Given the description of an element on the screen output the (x, y) to click on. 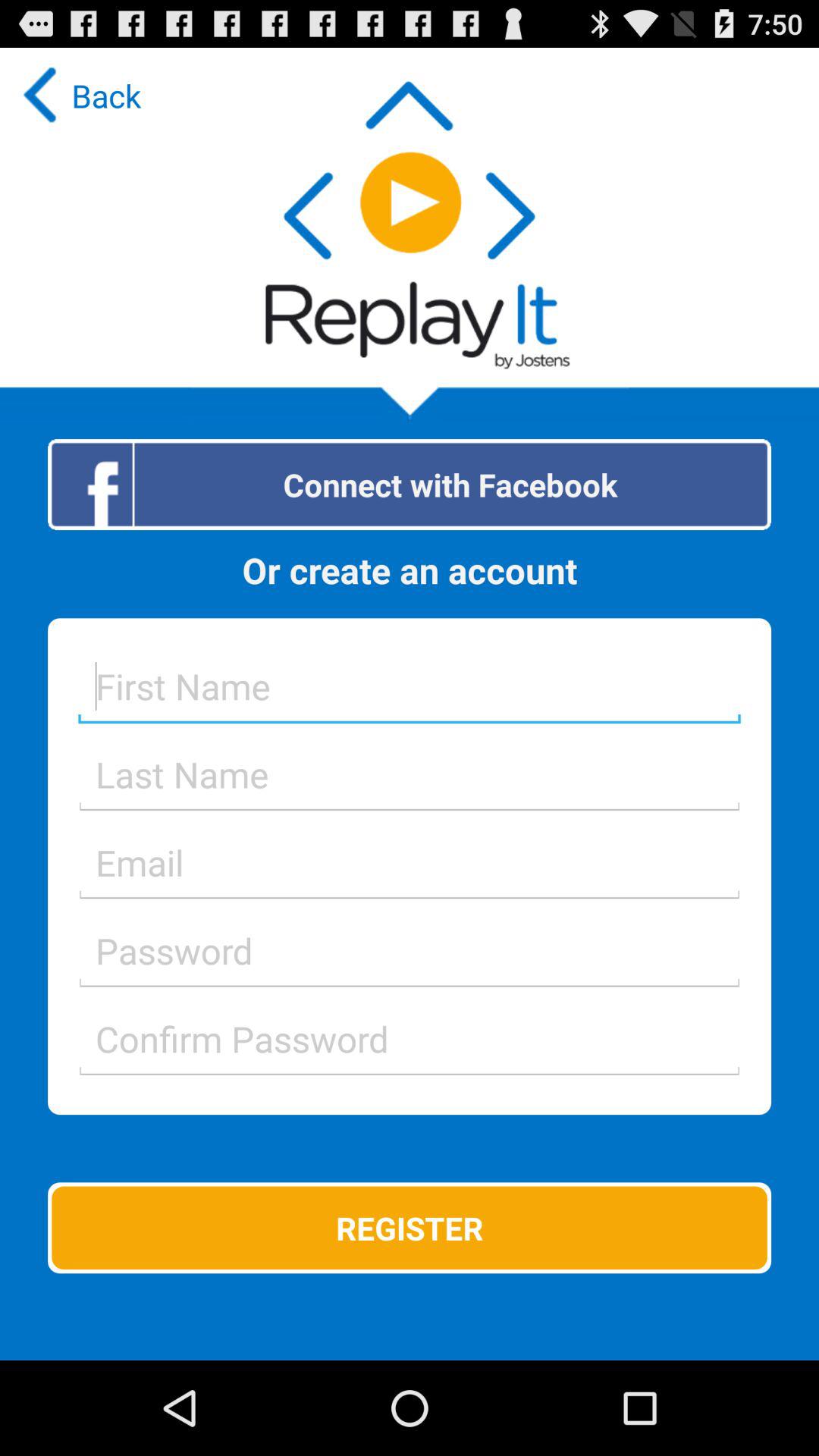
enter password (409, 950)
